Given the description of an element on the screen output the (x, y) to click on. 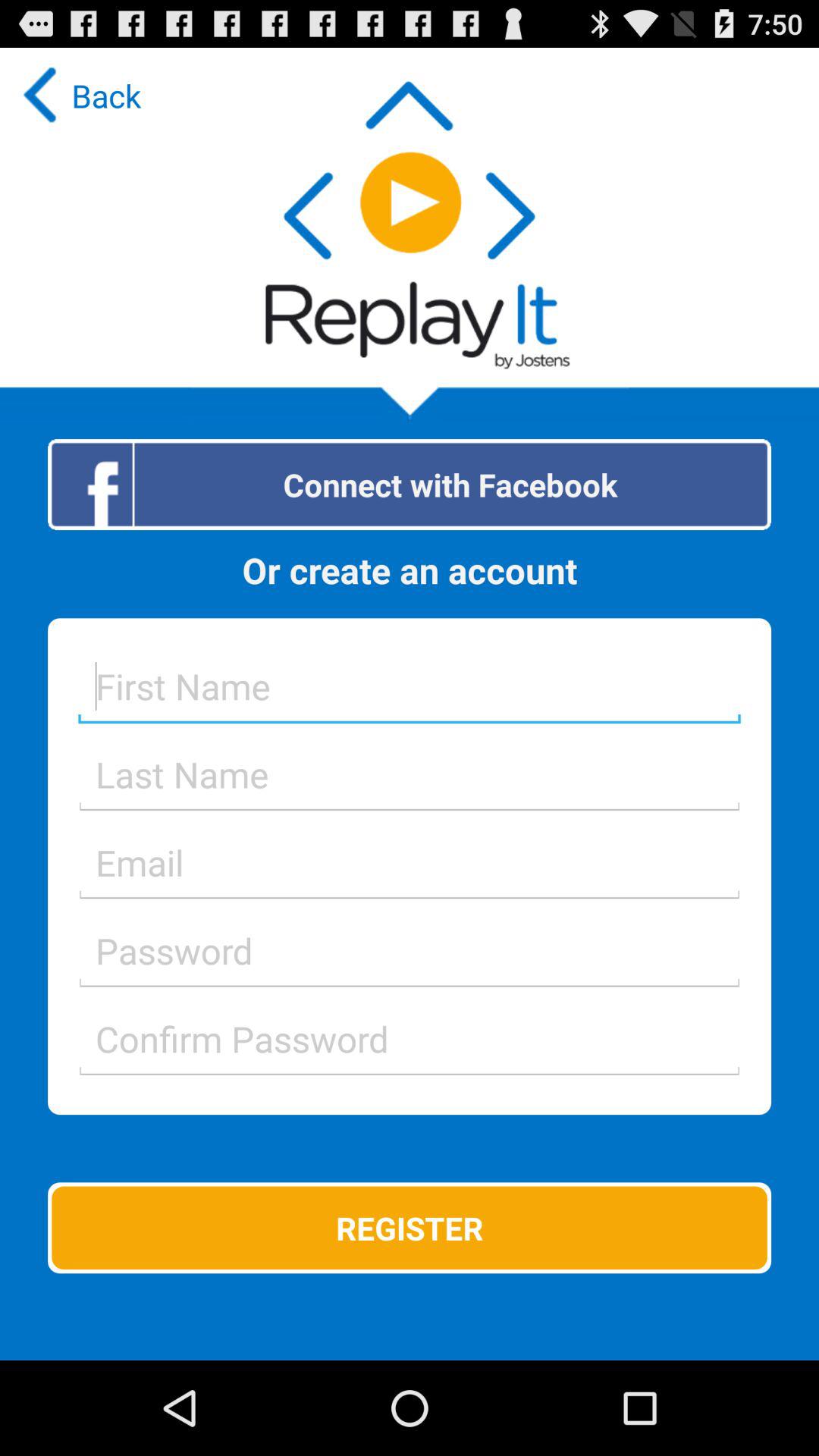
enter password (409, 950)
